Given the description of an element on the screen output the (x, y) to click on. 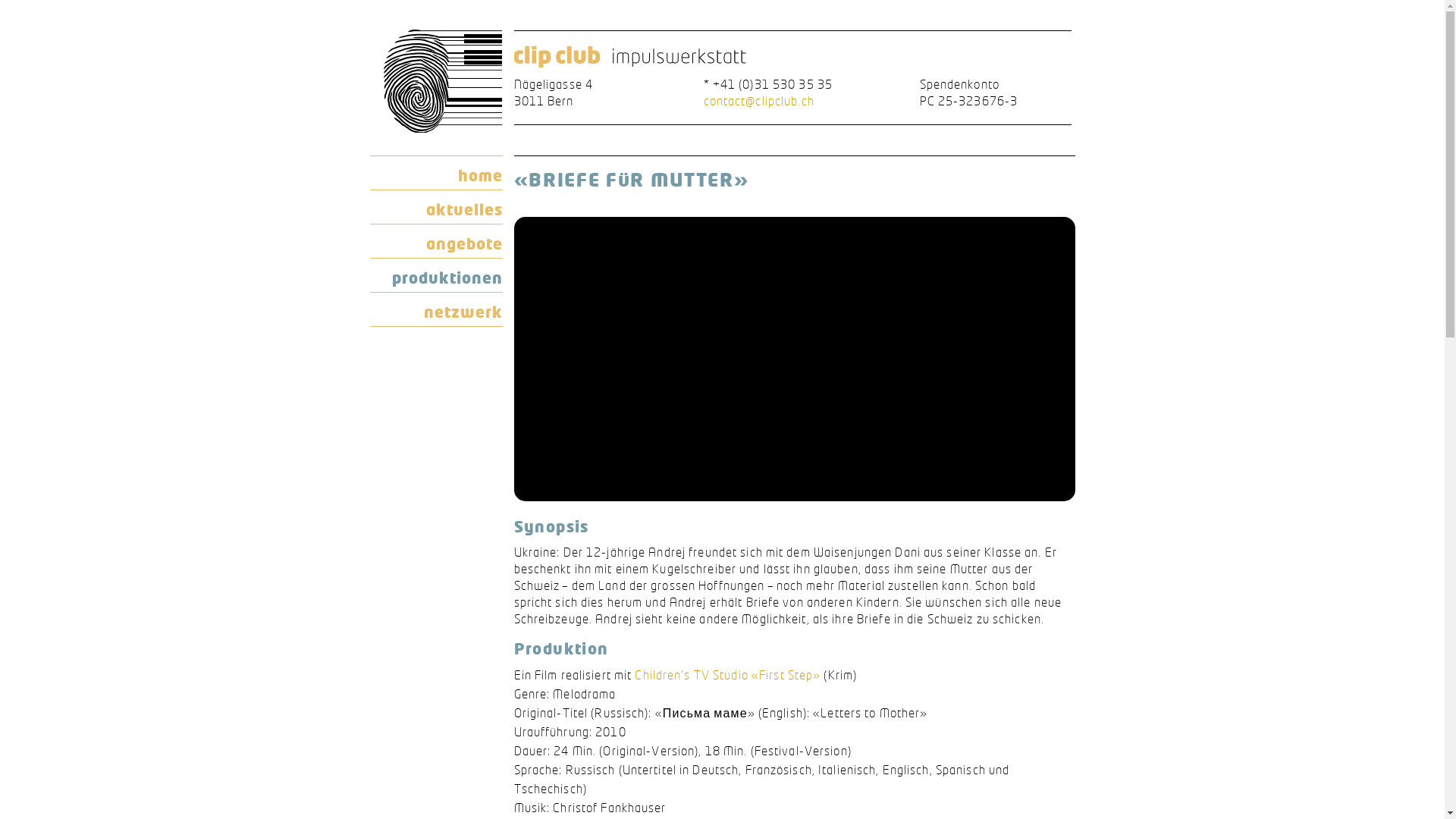
aktuelles Element type: text (436, 206)
clip club impulswerkstatt Element type: text (630, 57)
contact@clipclub.ch Element type: text (758, 100)
netzwerk Element type: text (436, 309)
home Element type: text (436, 172)
produktionen Element type: text (436, 274)
angebote Element type: text (436, 240)
